Given the description of an element on the screen output the (x, y) to click on. 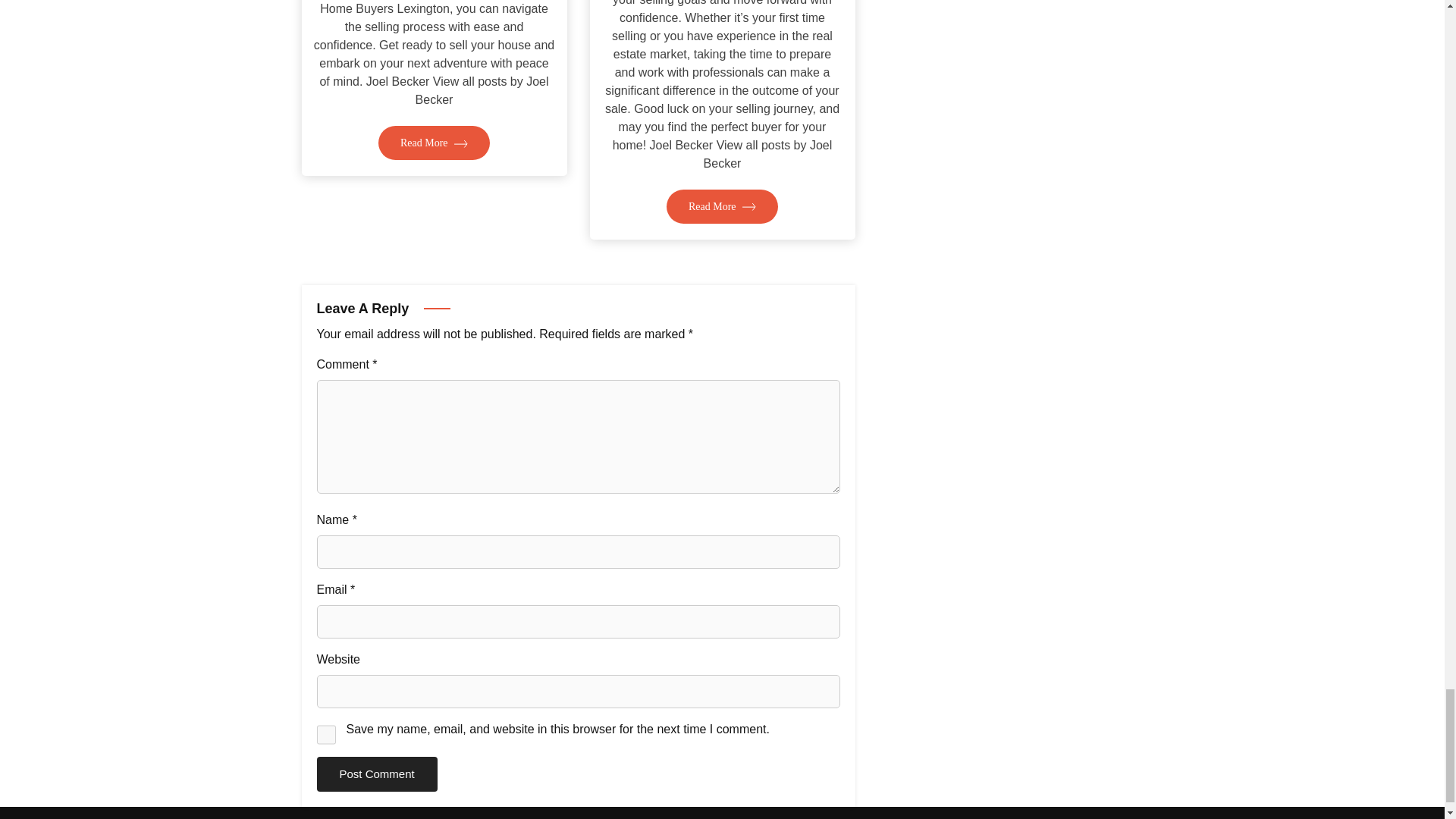
Post Comment (377, 774)
yes (326, 734)
Read More (433, 142)
